Given the description of an element on the screen output the (x, y) to click on. 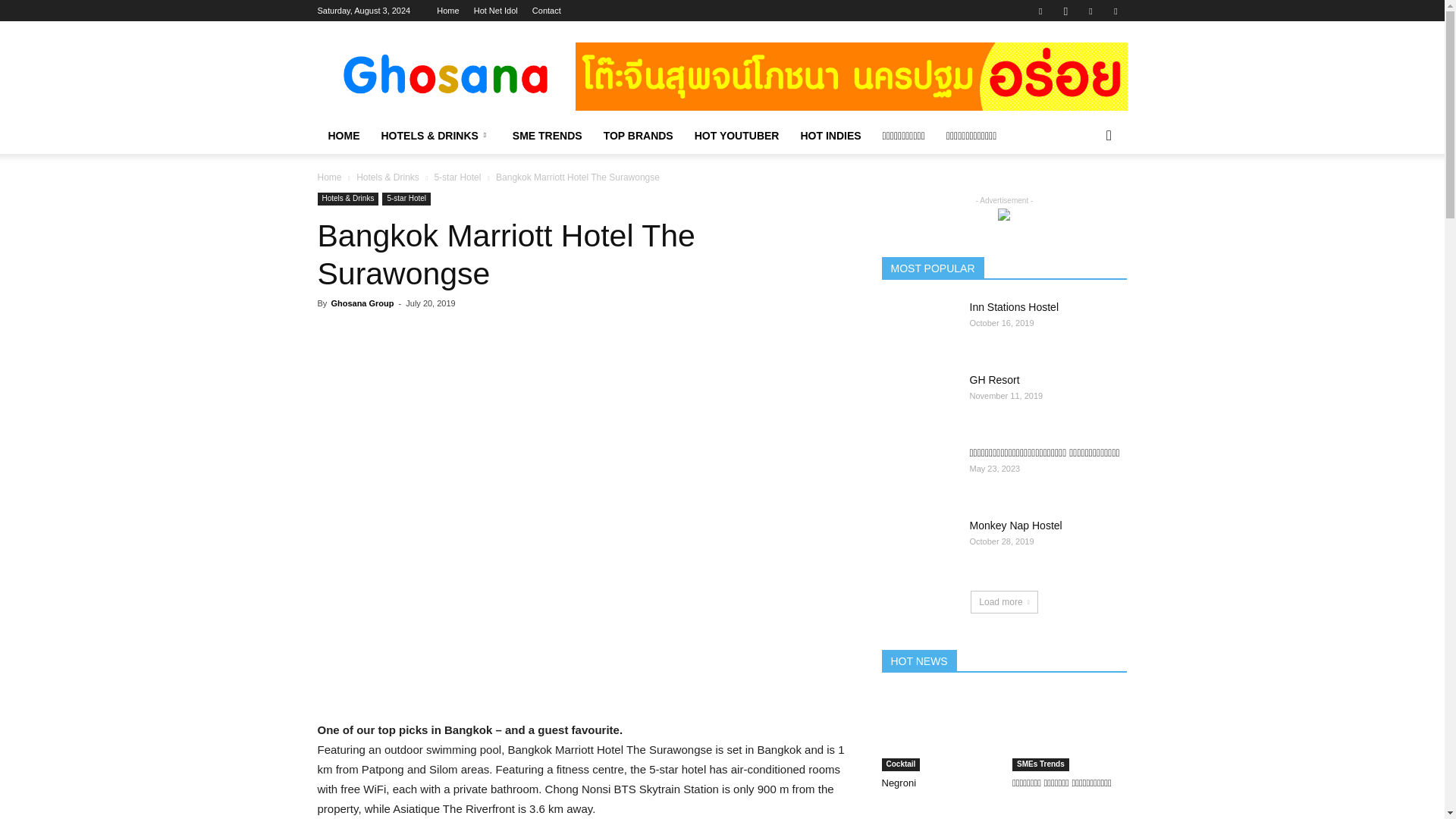
Contact (546, 10)
Home (447, 10)
Hot Net Idol (496, 10)
